Given the description of an element on the screen output the (x, y) to click on. 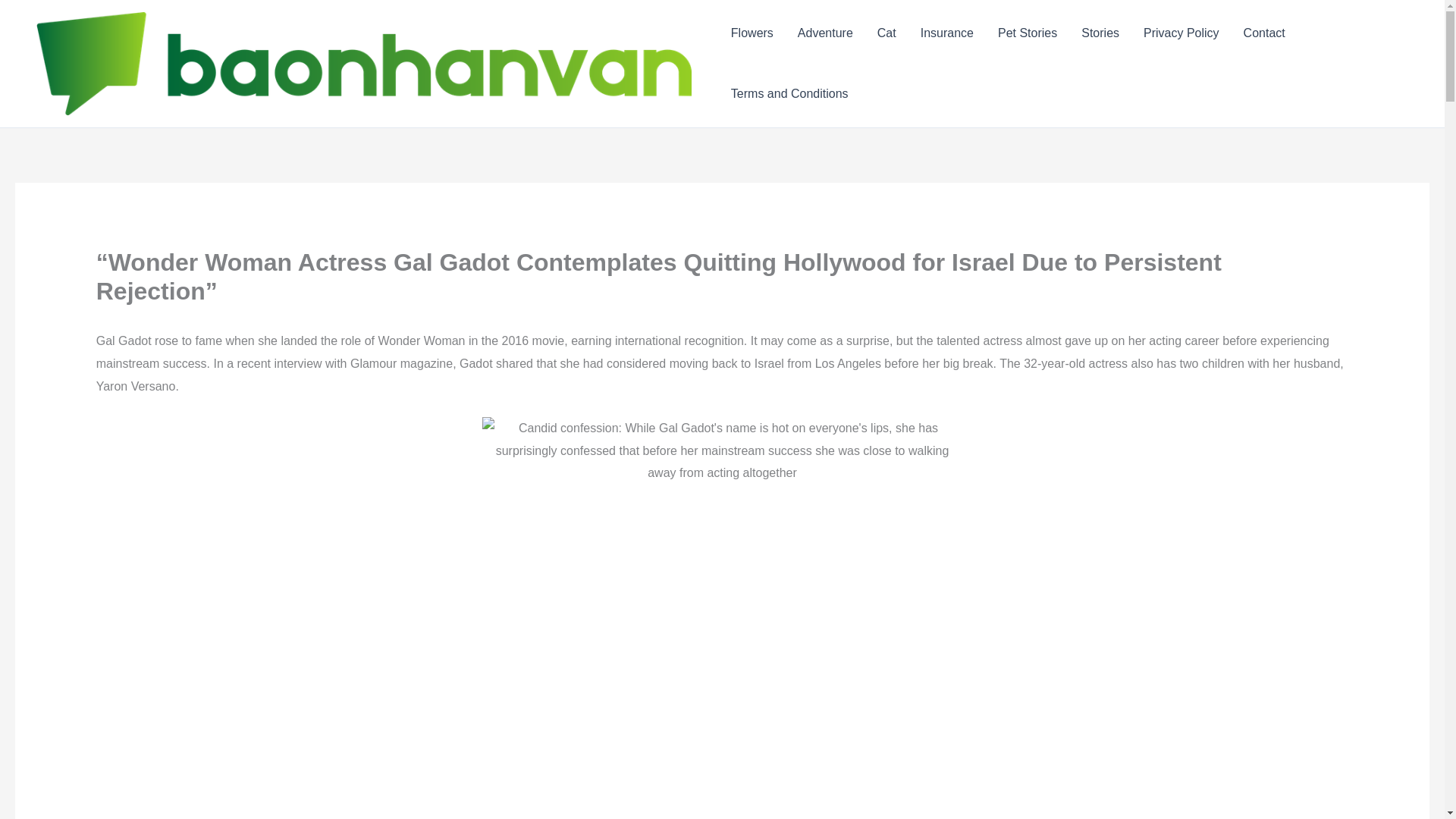
Pet Stories (1026, 33)
Contact (1264, 33)
Insurance (946, 33)
Stories (1099, 33)
Terms and Conditions (789, 93)
Privacy Policy (1181, 33)
Flowers (752, 33)
Adventure (825, 33)
